Given the description of an element on the screen output the (x, y) to click on. 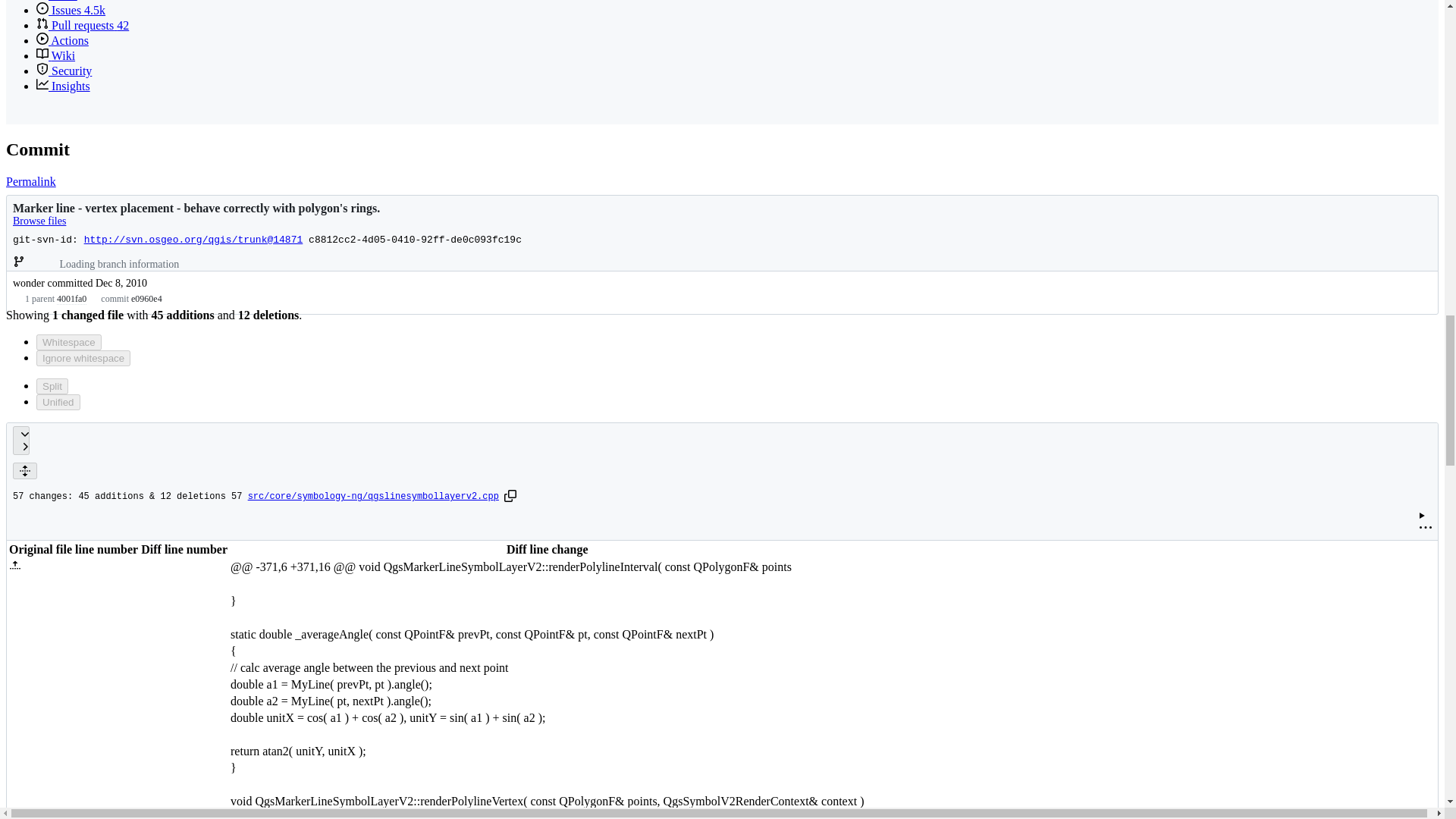
42 (122, 24)
4,543 (94, 10)
wonder (29, 283)
